Given the description of an element on the screen output the (x, y) to click on. 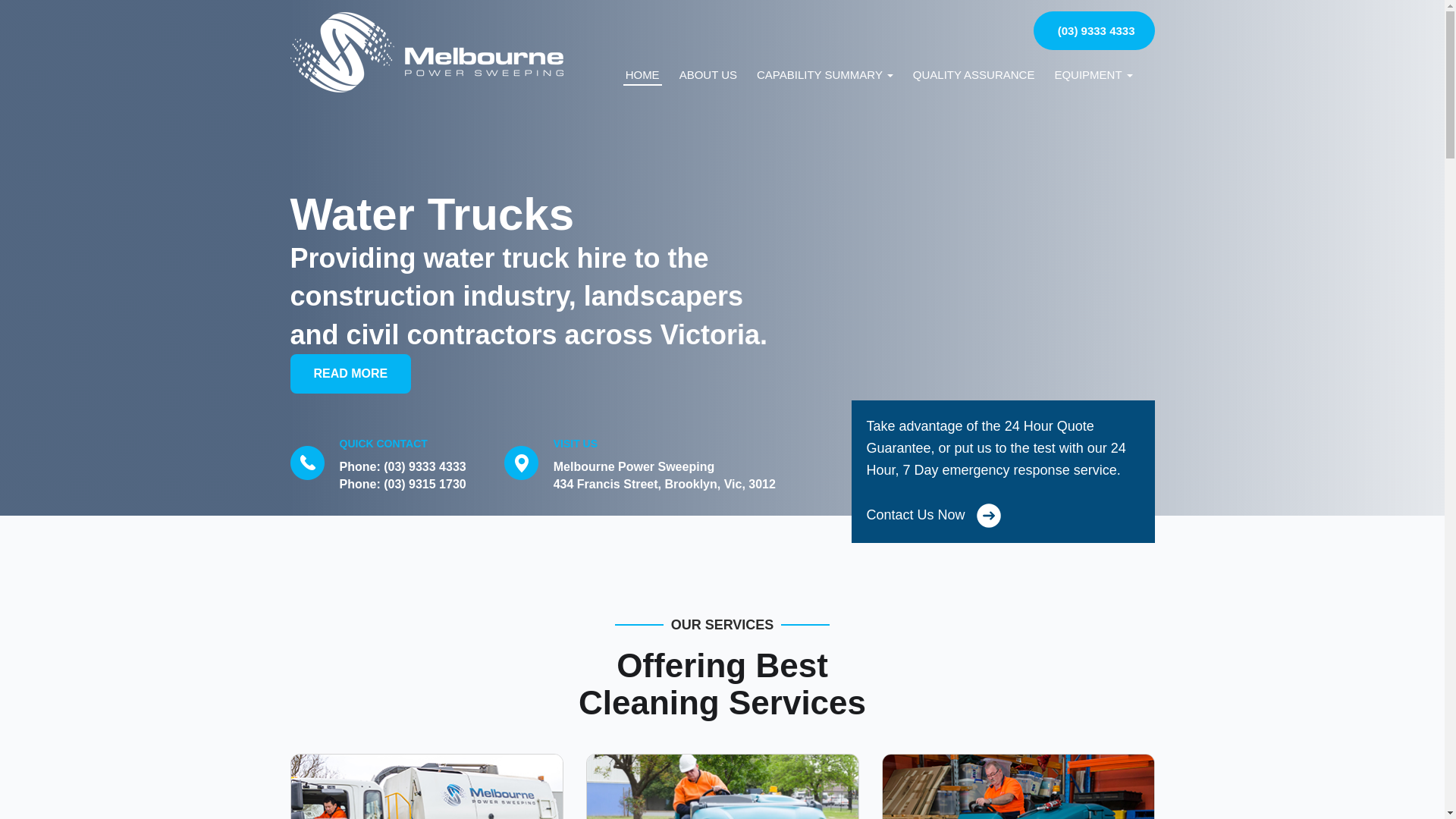
(03) 9315 1730 Element type: text (424, 483)
Contact Us Now Element type: text (1002, 509)
Next Element type: hover (18, 253)
(03) 9333 4333 Element type: text (1093, 30)
(03) 9333 4333 Element type: text (424, 466)
READ MORE Element type: text (350, 373)
ABOUT US Element type: text (708, 76)
EQUIPMENT Element type: text (1092, 76)
QUALITY ASSURANCE Element type: text (973, 76)
CAPABILITY SUMMARY Element type: text (824, 76)
Next Element type: hover (1426, 253)
HOME Element type: text (642, 76)
